Given the description of an element on the screen output the (x, y) to click on. 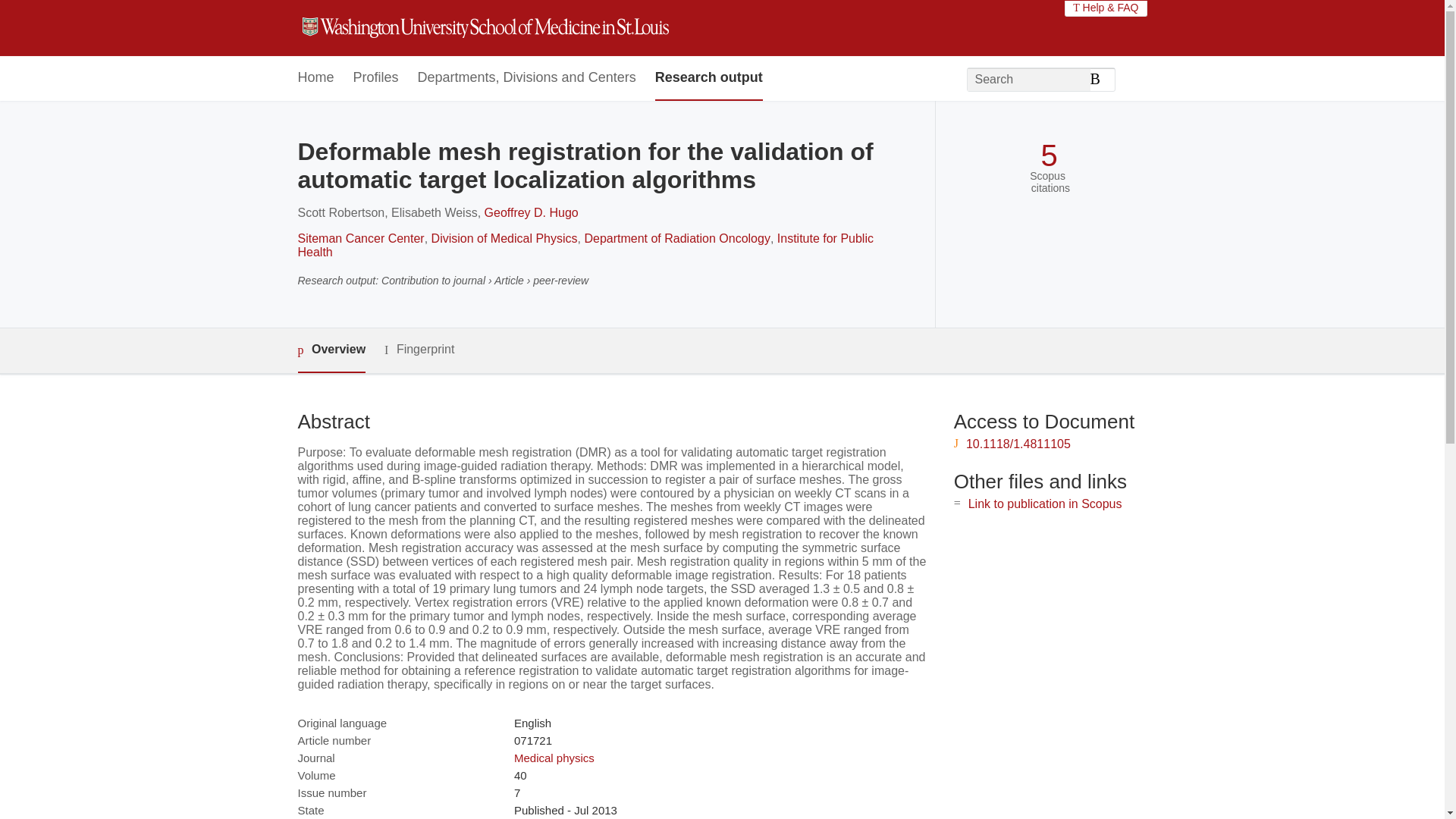
Medical physics (553, 757)
Fingerprint (419, 349)
Departments, Divisions and Centers (526, 78)
Division of Medical Physics (504, 237)
Department of Radiation Oncology (676, 237)
Link to publication in Scopus (1045, 503)
Profiles (375, 78)
Institute for Public Health (584, 244)
Overview (331, 350)
